Given the description of an element on the screen output the (x, y) to click on. 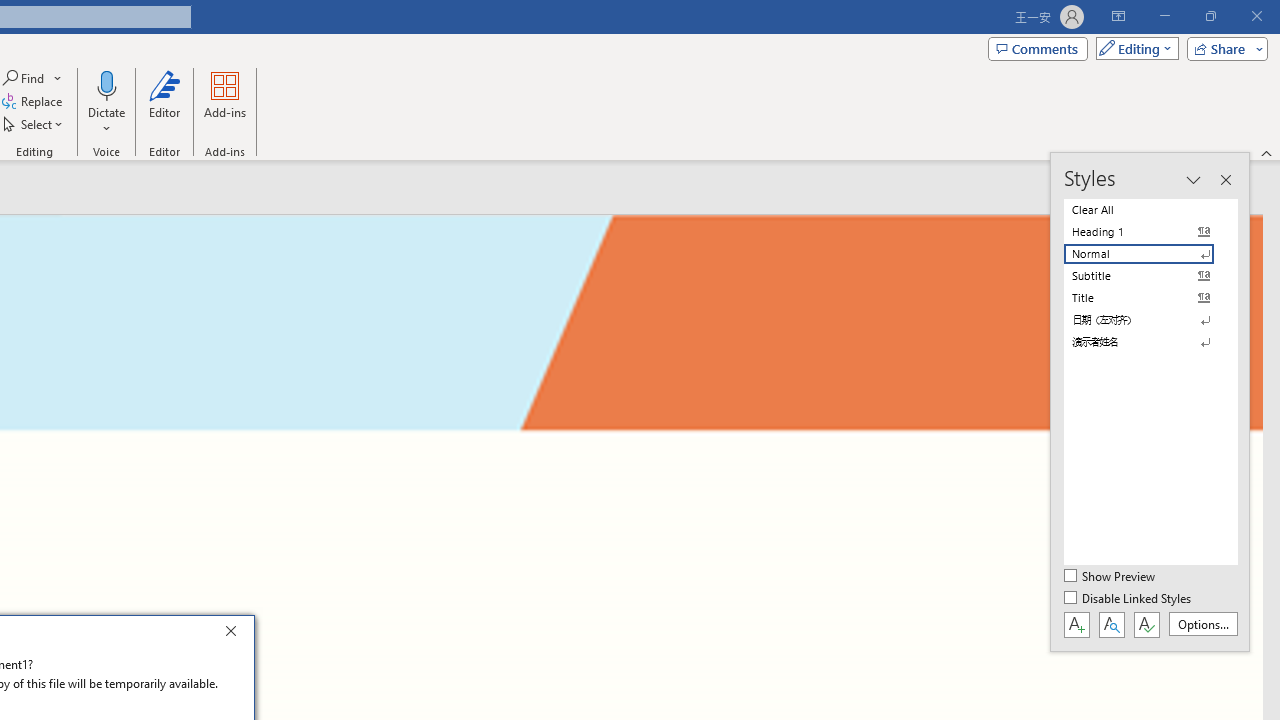
Restore Down (1210, 16)
Close pane (1225, 179)
Mode (1133, 47)
More Options (106, 121)
Heading 1 (1150, 232)
Options... (1202, 623)
Disable Linked Styles (1129, 599)
Title (1150, 297)
Task Pane Options (1193, 179)
Class: MsoCommandBar (1149, 401)
Editor (164, 102)
Class: NetUIButton (1146, 624)
Minimize (1164, 16)
